Given the description of an element on the screen output the (x, y) to click on. 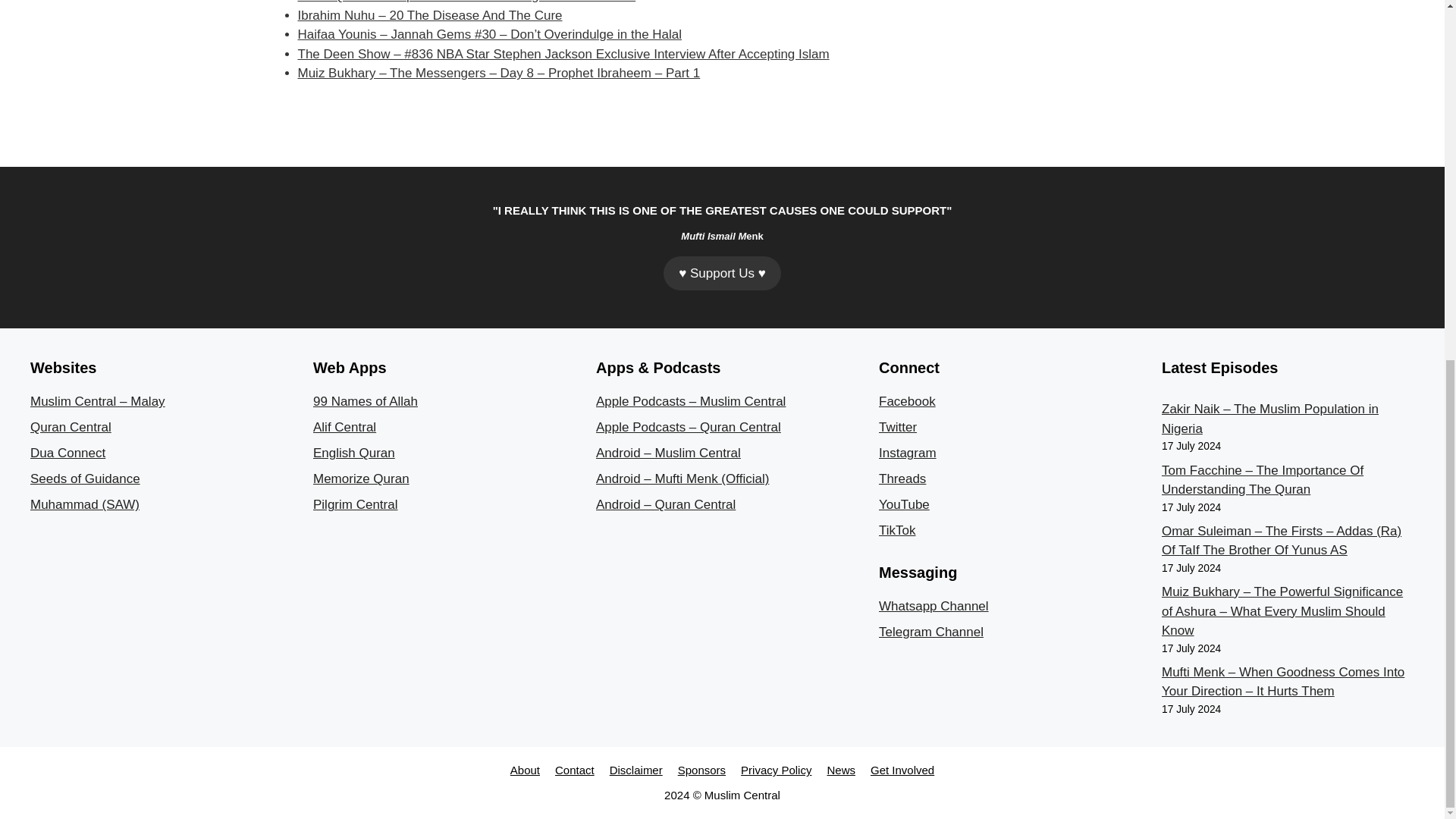
Alif Central (344, 427)
Dua Connect (67, 452)
Quran Central (71, 427)
Pilgrim Central (355, 504)
Memorize Quran (361, 478)
99 Names of Allah (365, 400)
Seeds of Guidance (84, 478)
English Quran (353, 452)
